Given the description of an element on the screen output the (x, y) to click on. 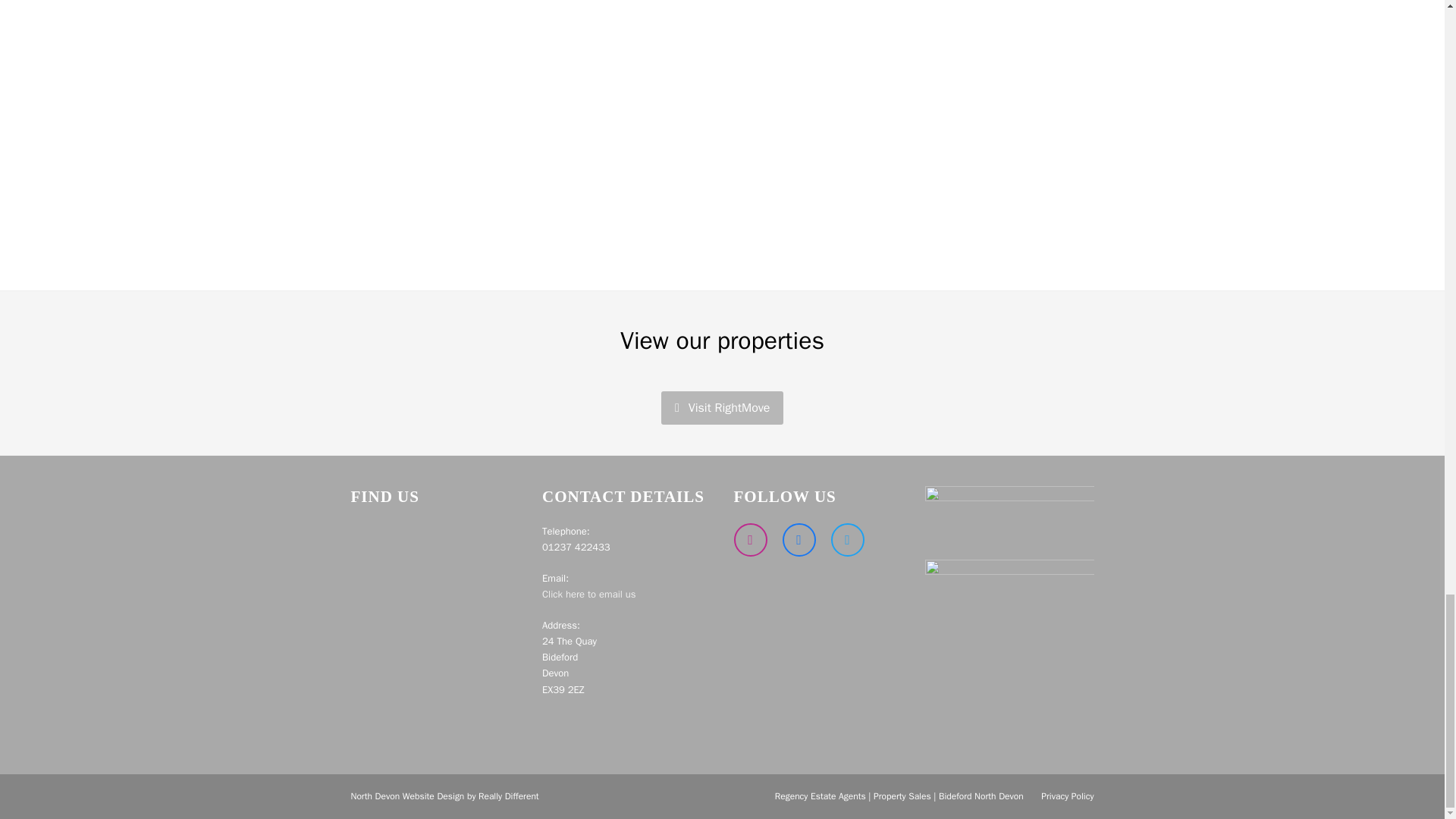
North Devon Website Design by Really Different (444, 796)
Facebook (799, 539)
Instagram (750, 539)
Twitter (847, 539)
Facebook (799, 539)
Privacy Policy (1067, 796)
Click here to email us (588, 594)
Google Map (434, 617)
Visit RightMove (722, 408)
Instagram (750, 539)
Visit RightMove (722, 408)
Twitter (847, 539)
